Given the description of an element on the screen output the (x, y) to click on. 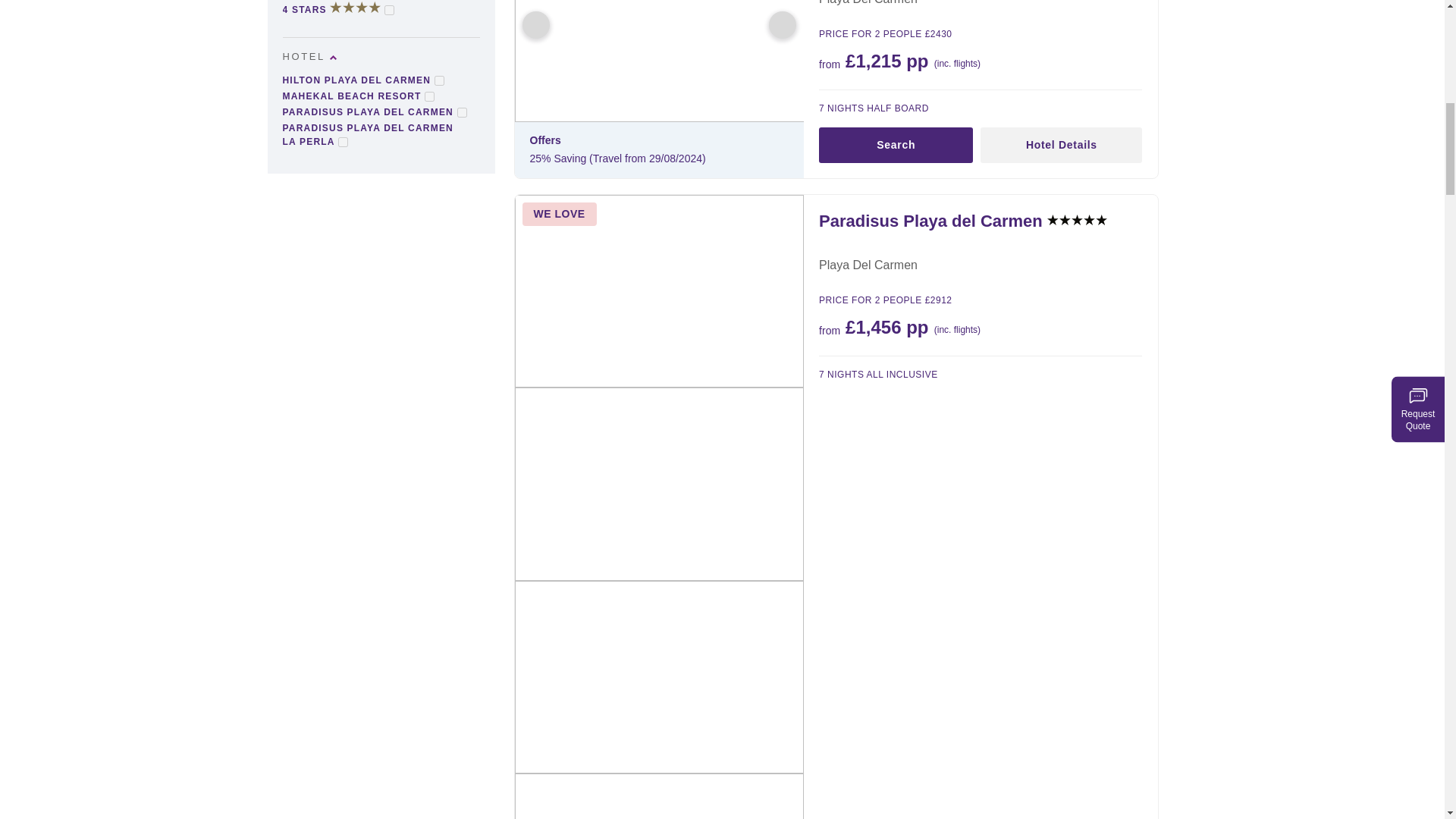
true (389, 9)
true (461, 112)
true (342, 142)
true (438, 80)
true (429, 96)
